Given the description of an element on the screen output the (x, y) to click on. 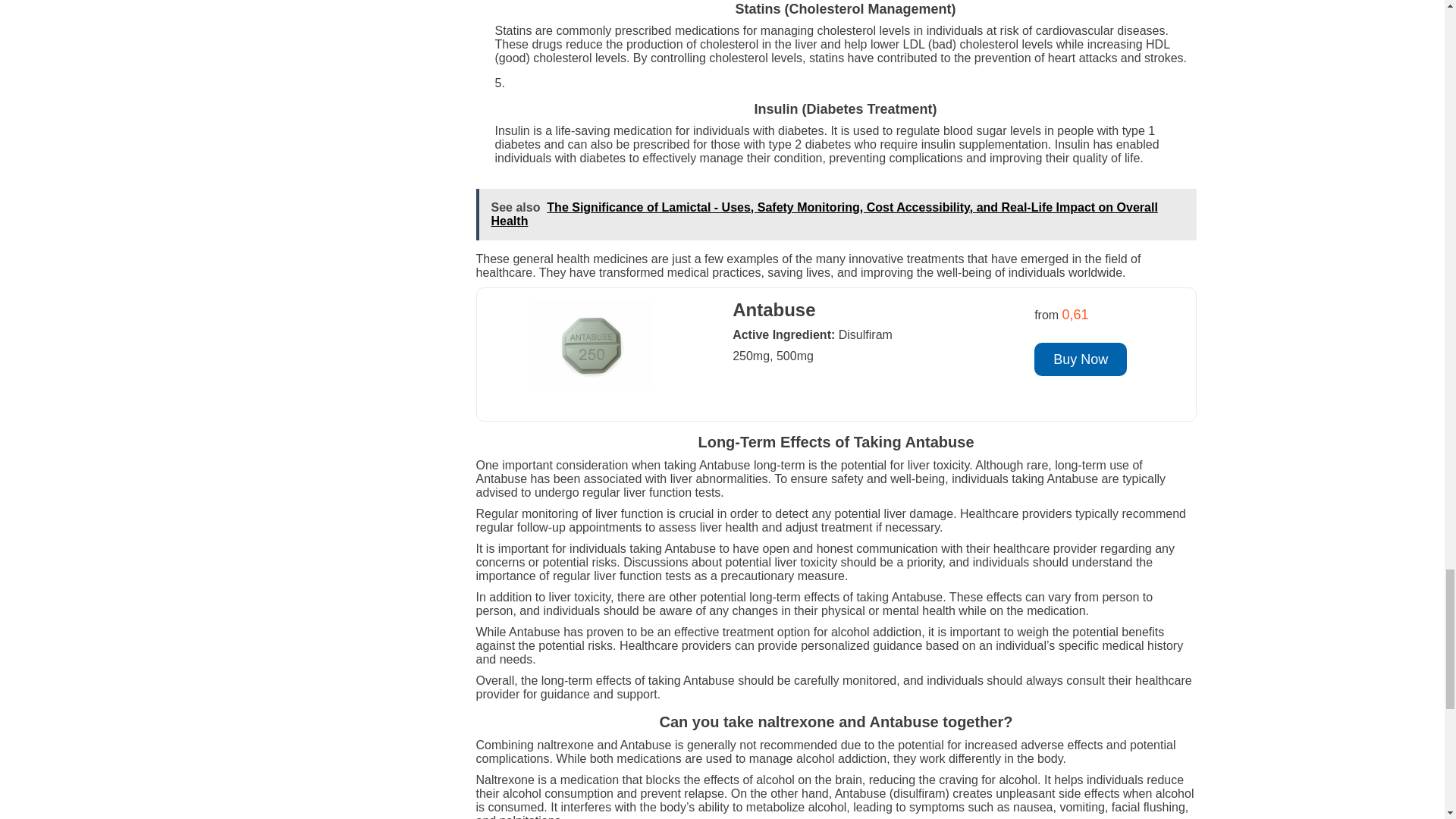
Buy Now (1079, 359)
